Given the description of an element on the screen output the (x, y) to click on. 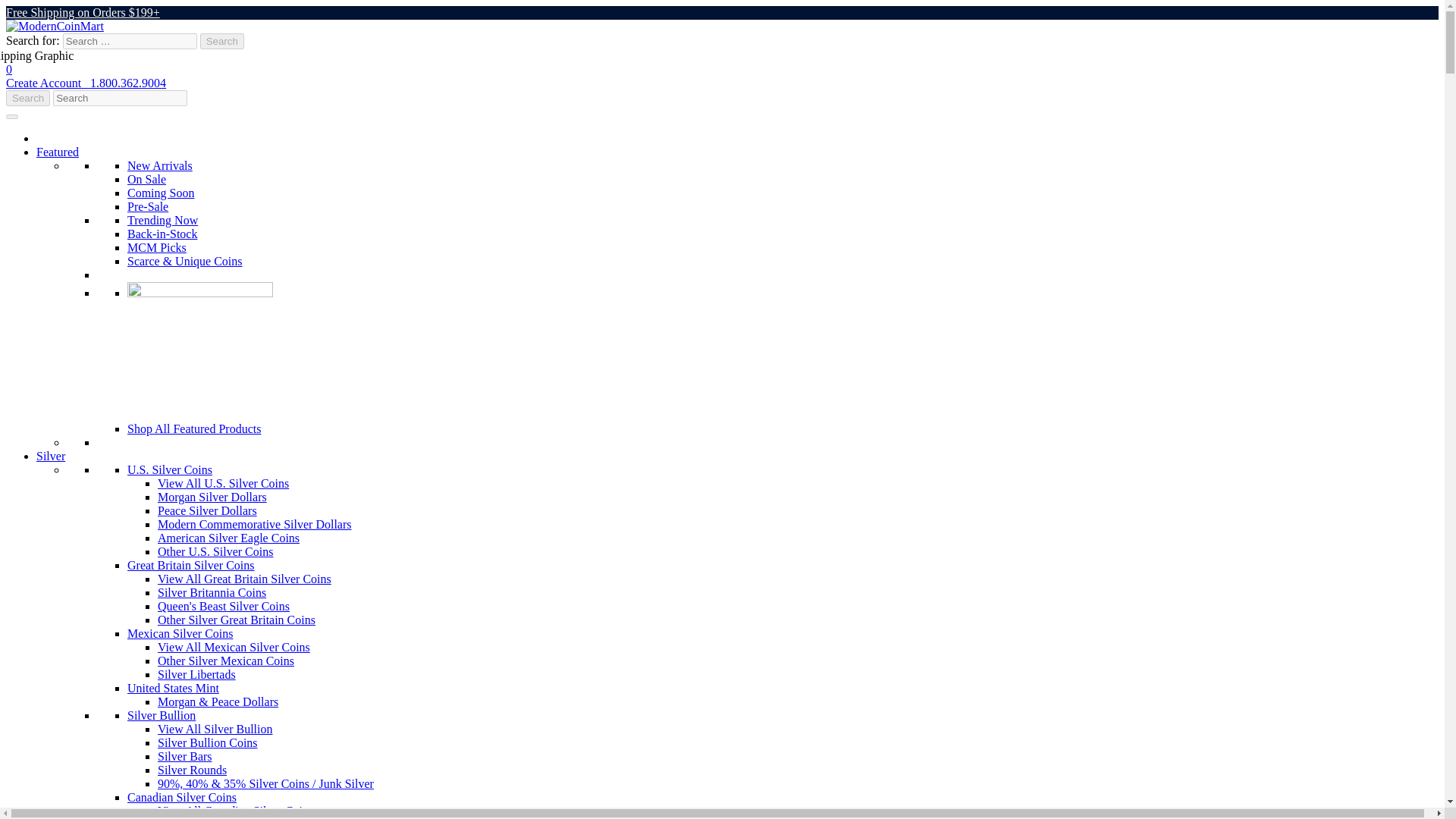
Mexican Silver Coins (180, 633)
Morgan Silver Dollars (211, 496)
Other U.S. Silver Coins (215, 551)
Great Britain Silver Coins (191, 564)
View your shopping cart (721, 76)
Peace Silver Dollars (207, 510)
View All Mexican Silver Coins (233, 646)
Silver Britannia Coins (211, 592)
View All Great Britain Silver Coins (244, 578)
Pre-Sale (148, 205)
MCM Picks (157, 246)
Modern Commemorative Silver Dollars (254, 523)
1.800.362.9004 (127, 82)
Other Silver Great Britain Coins (236, 619)
Silver Bullion (161, 715)
